Given the description of an element on the screen output the (x, y) to click on. 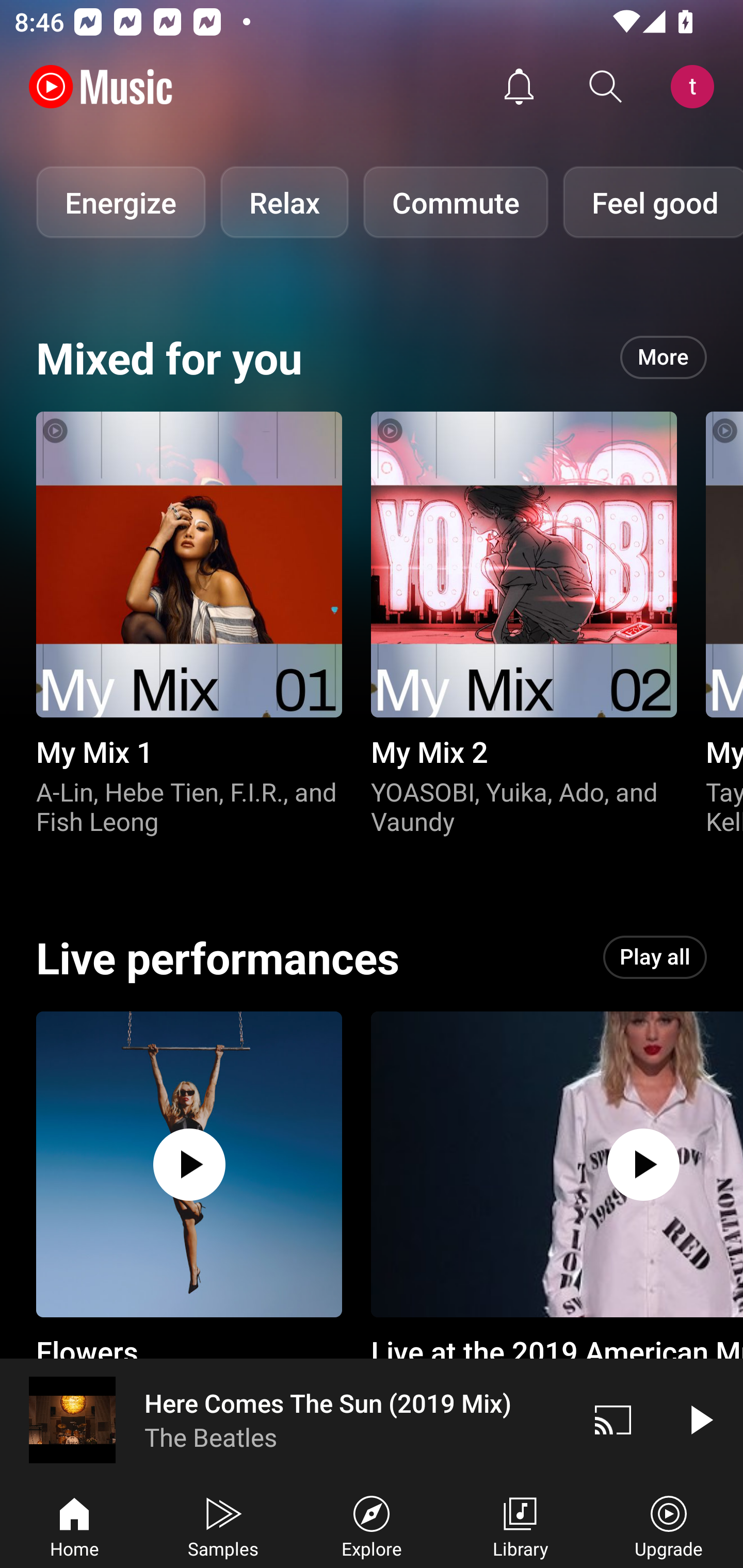
Activity feed (518, 86)
Search (605, 86)
Account (696, 86)
Here Comes The Sun (2019 Mix) The Beatles (284, 1419)
Cast. Disconnected (612, 1419)
Play video (699, 1419)
Home (74, 1524)
Samples (222, 1524)
Explore (371, 1524)
Library (519, 1524)
Upgrade (668, 1524)
